Given the description of an element on the screen output the (x, y) to click on. 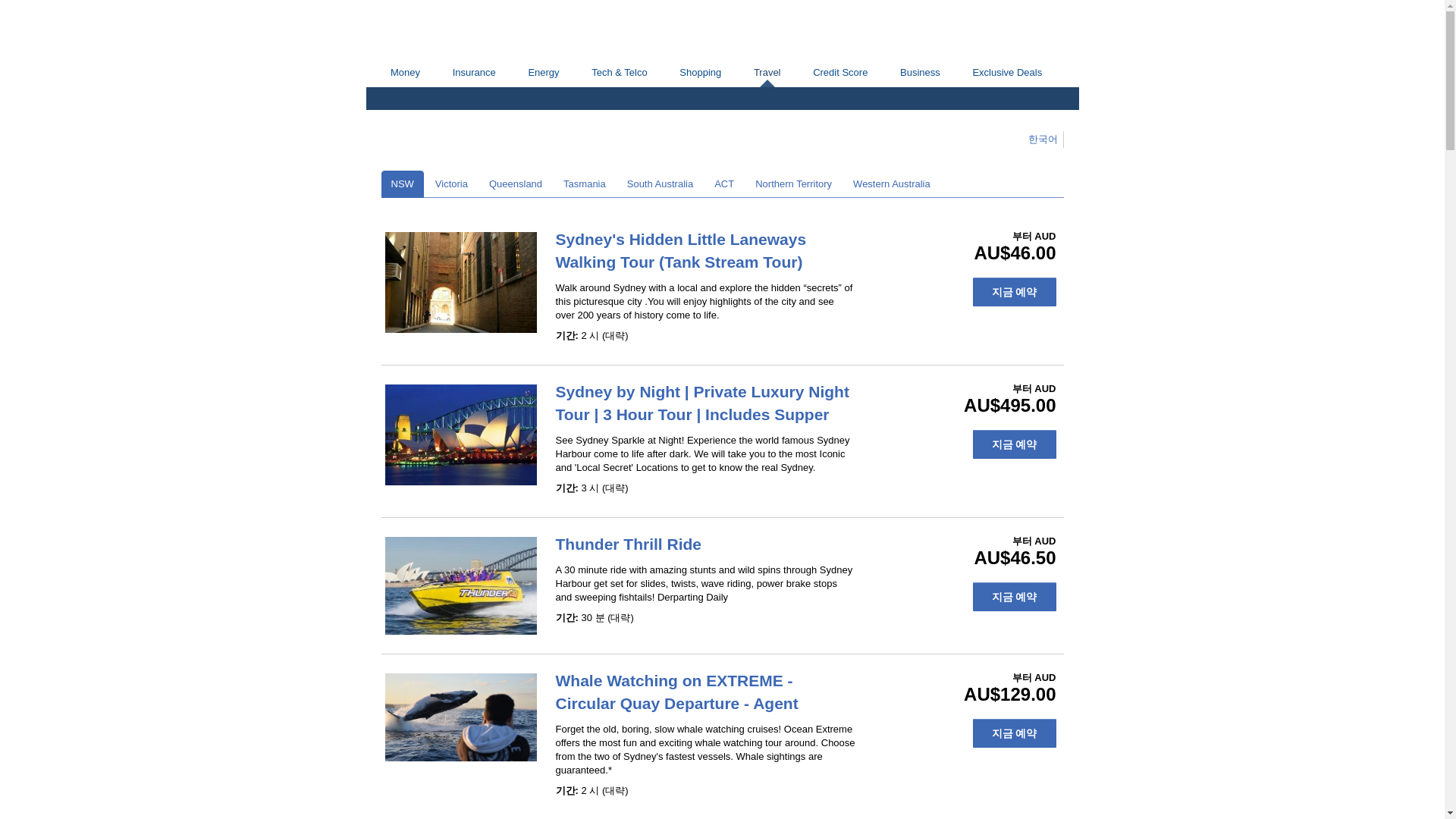
finder.com.au logo (443, 29)
Credit Score (839, 72)
Travel (766, 73)
Queensland (515, 184)
ACT (724, 184)
Victoria (451, 184)
Shopping (700, 72)
Northern Territory (793, 184)
Exclusive Deals (1007, 72)
South Australia (660, 184)
Tasmania (584, 184)
NSW (401, 184)
Western Australia (891, 184)
Insurance (474, 72)
Business (920, 72)
